Given the description of an element on the screen output the (x, y) to click on. 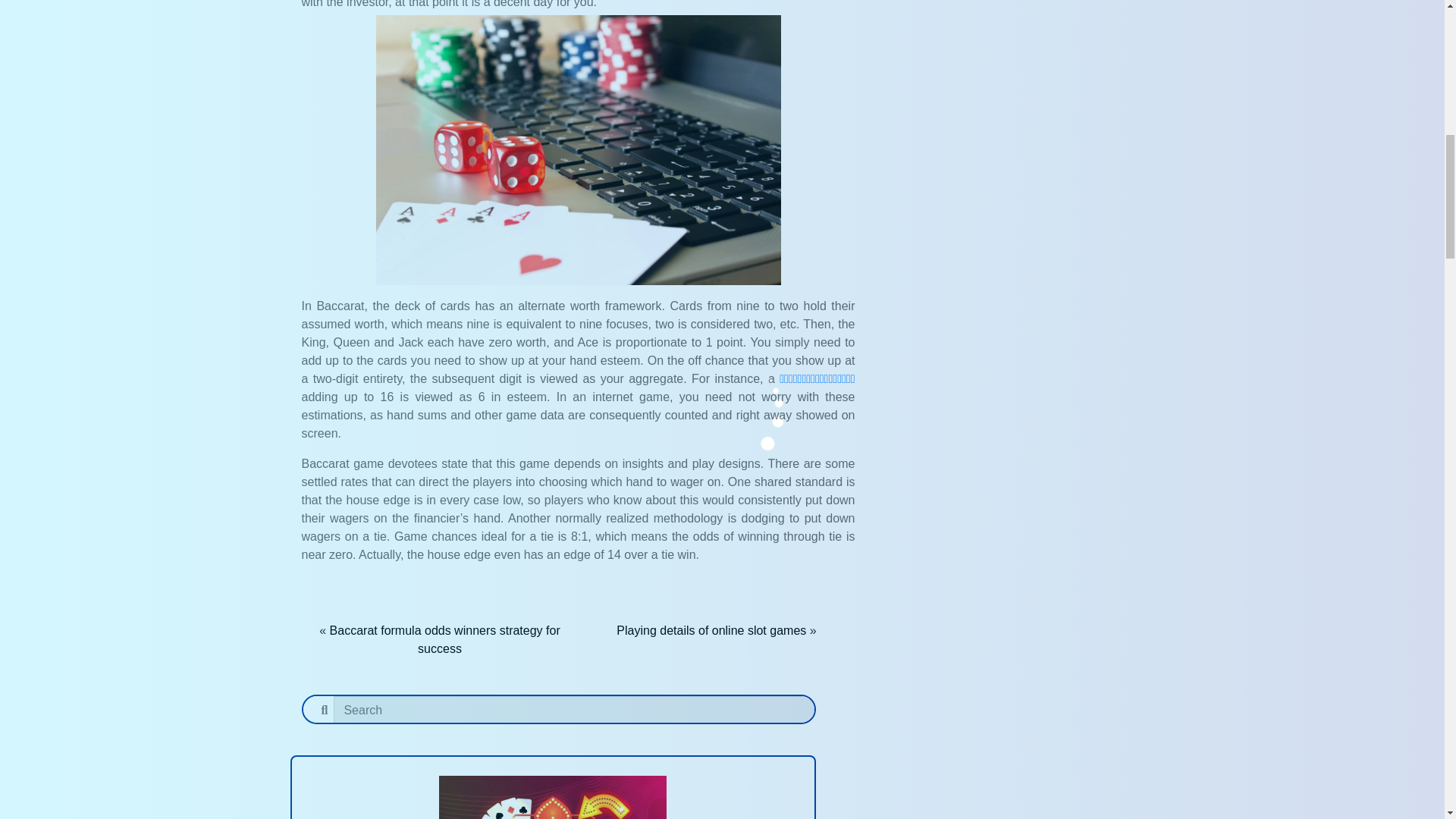
Baccarat formula odds winners strategy for success (445, 639)
Playing details of online slot games (710, 630)
